Given the description of an element on the screen output the (x, y) to click on. 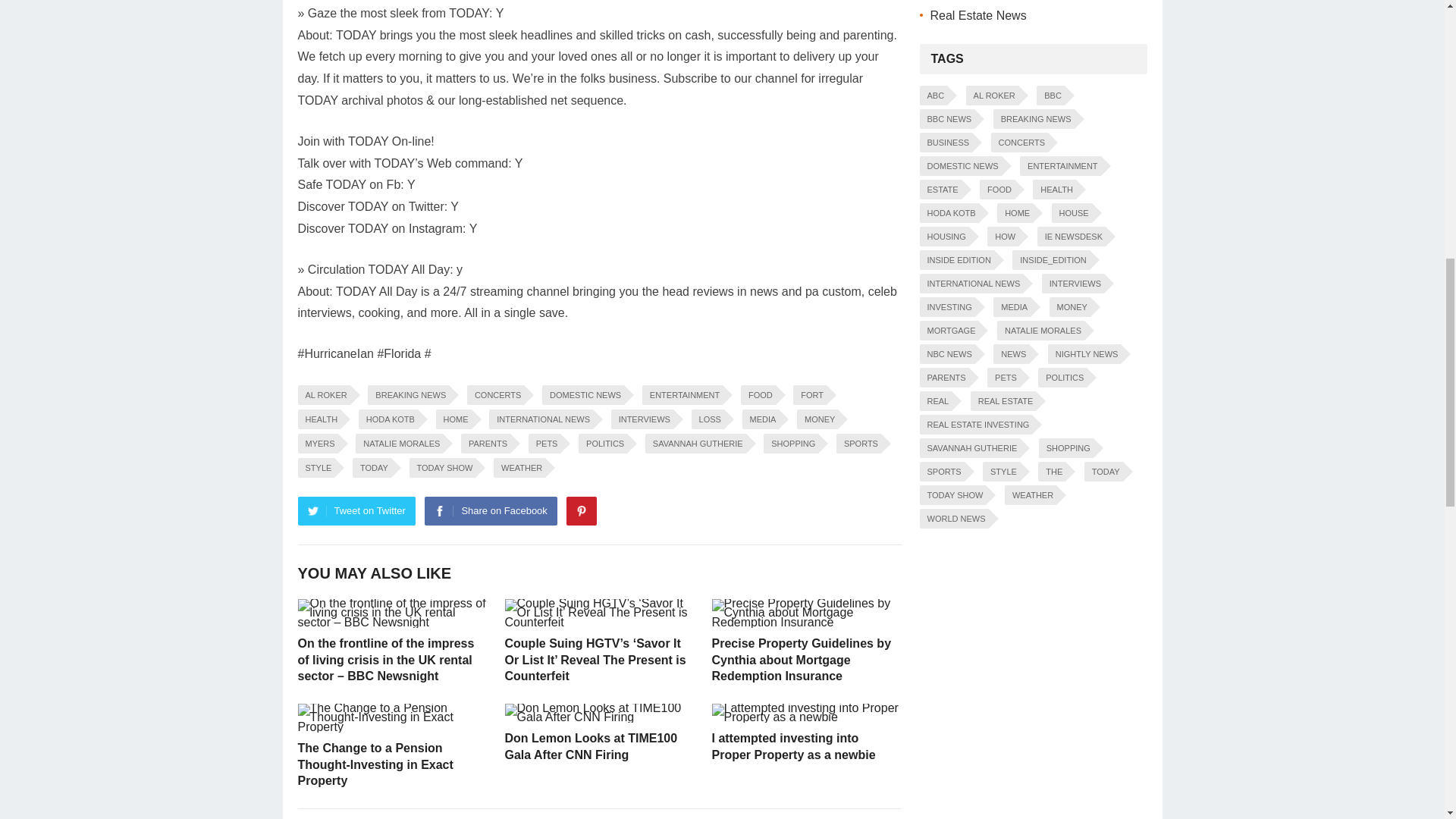
BREAKING NEWS (408, 394)
FORT (810, 394)
FOOD (758, 394)
HOME (453, 419)
HEALTH (318, 419)
HODA KOTB (387, 419)
AL ROKER (323, 394)
DOMESTIC NEWS (582, 394)
ENTERTAINMENT (682, 394)
CONCERTS (495, 394)
